Given the description of an element on the screen output the (x, y) to click on. 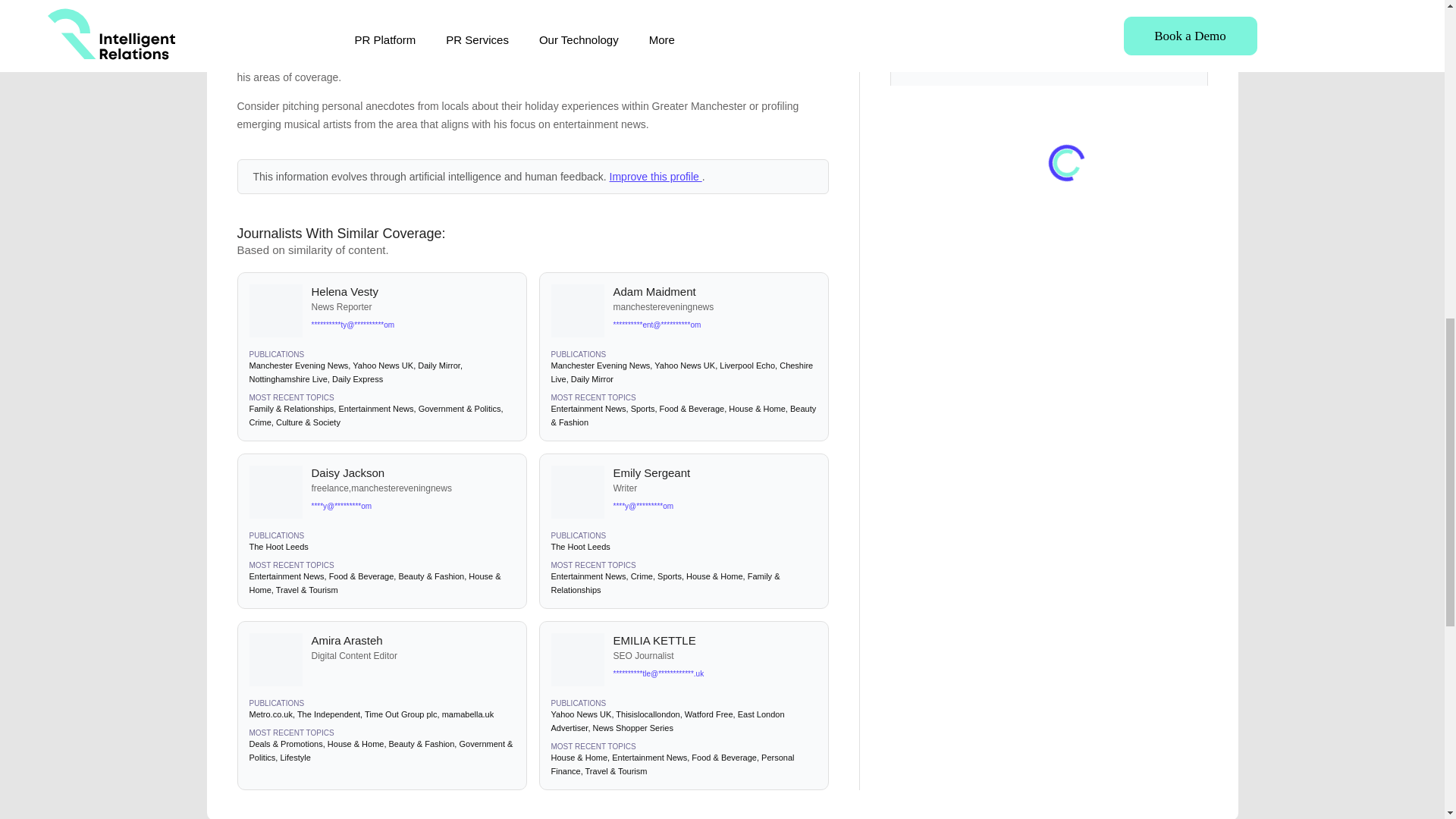
Manchester Evening News (297, 365)
Nottinghamshire Live (287, 379)
Adam Maidment (713, 291)
Daily Express (356, 379)
Daily Mirror (438, 365)
Improve this profile (655, 176)
Helena Vesty (412, 291)
Yahoo News UK (382, 365)
